Given the description of an element on the screen output the (x, y) to click on. 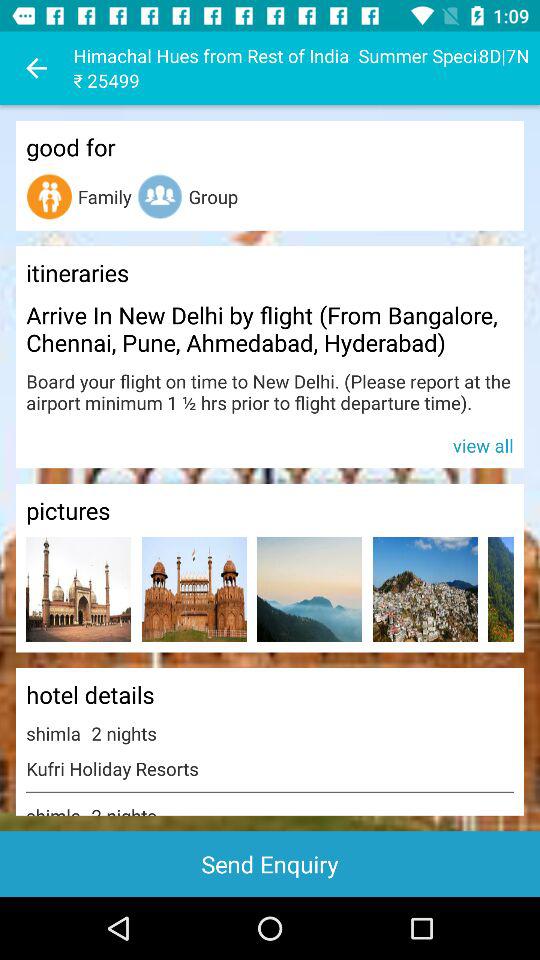
first photo (78, 589)
